Given the description of an element on the screen output the (x, y) to click on. 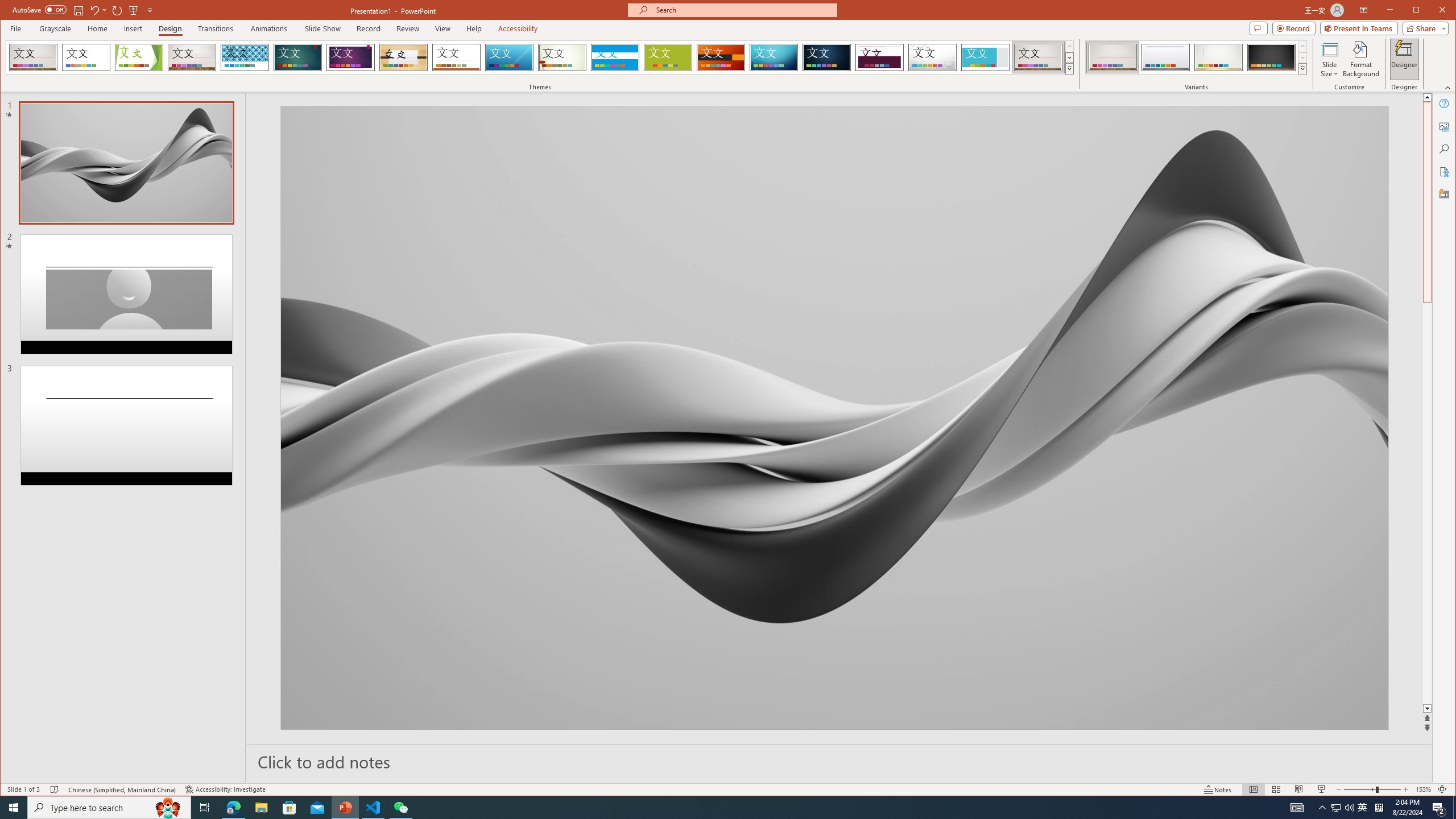
Gallery Variant 4 (1270, 57)
Droplet (932, 57)
